Given the description of an element on the screen output the (x, y) to click on. 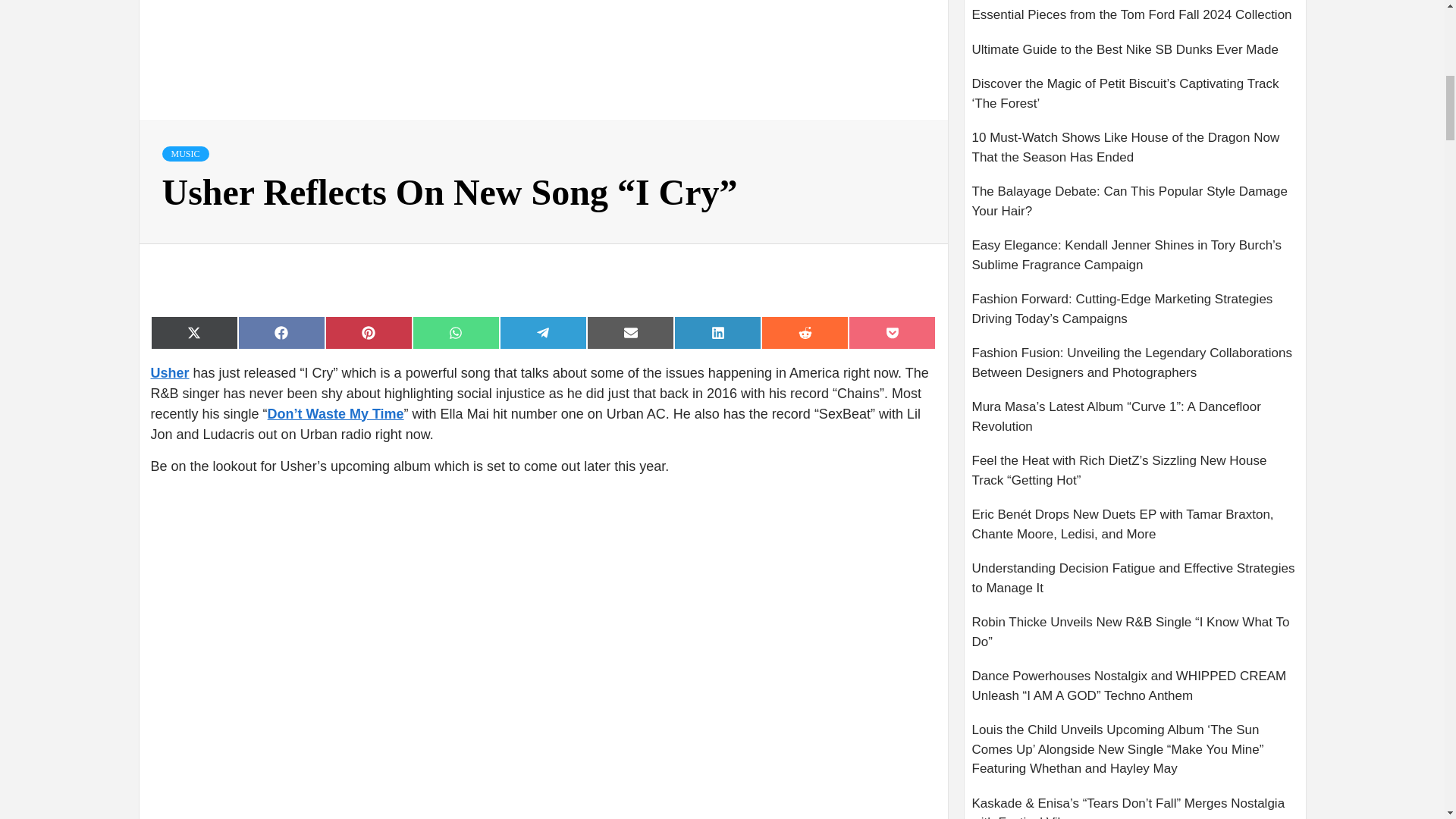
Share on Telegram (542, 332)
Share on LinkedIn (717, 332)
Share on Email (630, 332)
Share on WhatsApp (455, 332)
MUSIC (185, 153)
Share on Reddit (804, 332)
Share on Facebook (281, 332)
Usher (169, 372)
Share on Pocket (892, 332)
Share on Pinterest (368, 332)
